Given the description of an element on the screen output the (x, y) to click on. 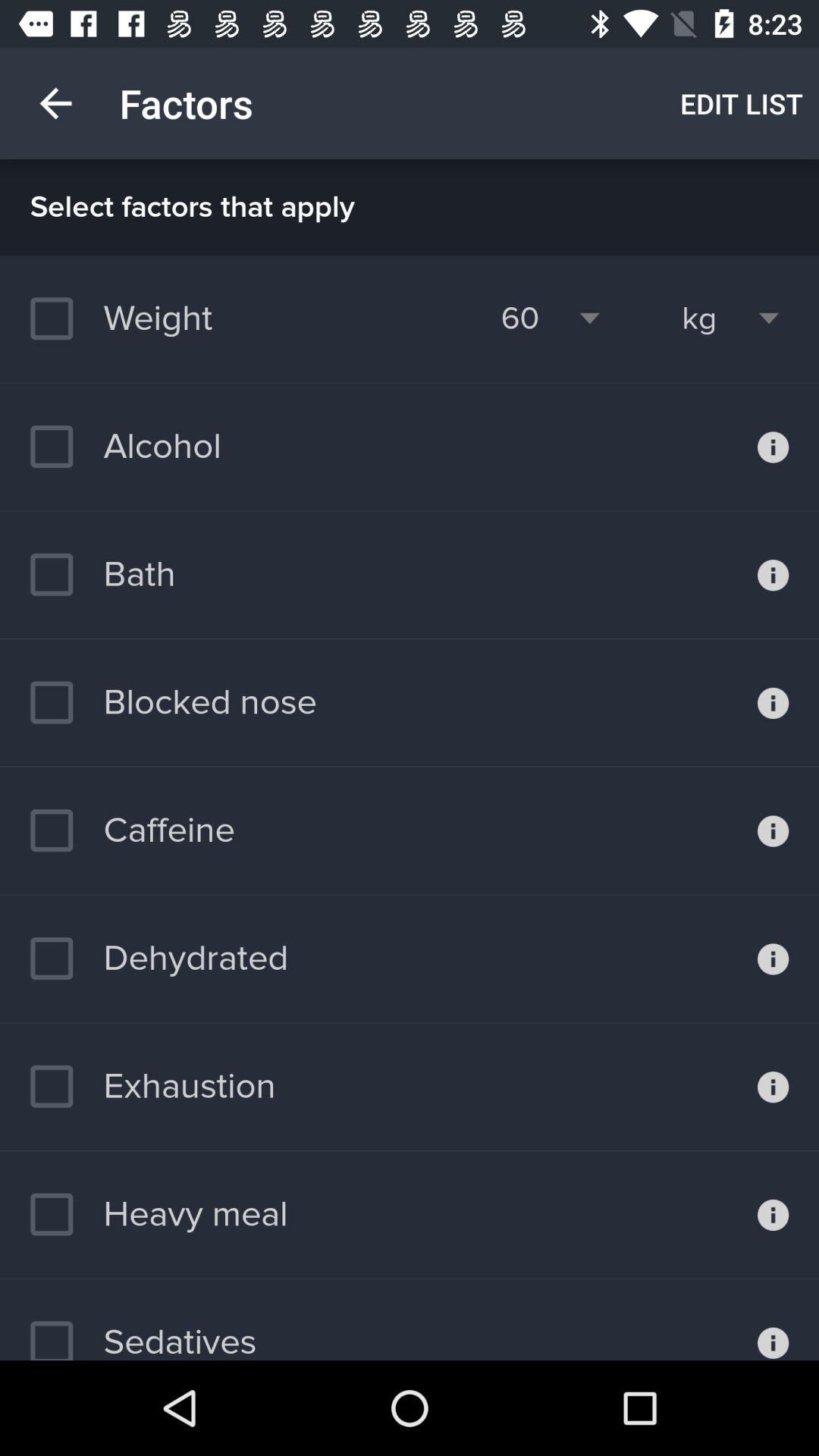
more information option (773, 958)
